Given the description of an element on the screen output the (x, y) to click on. 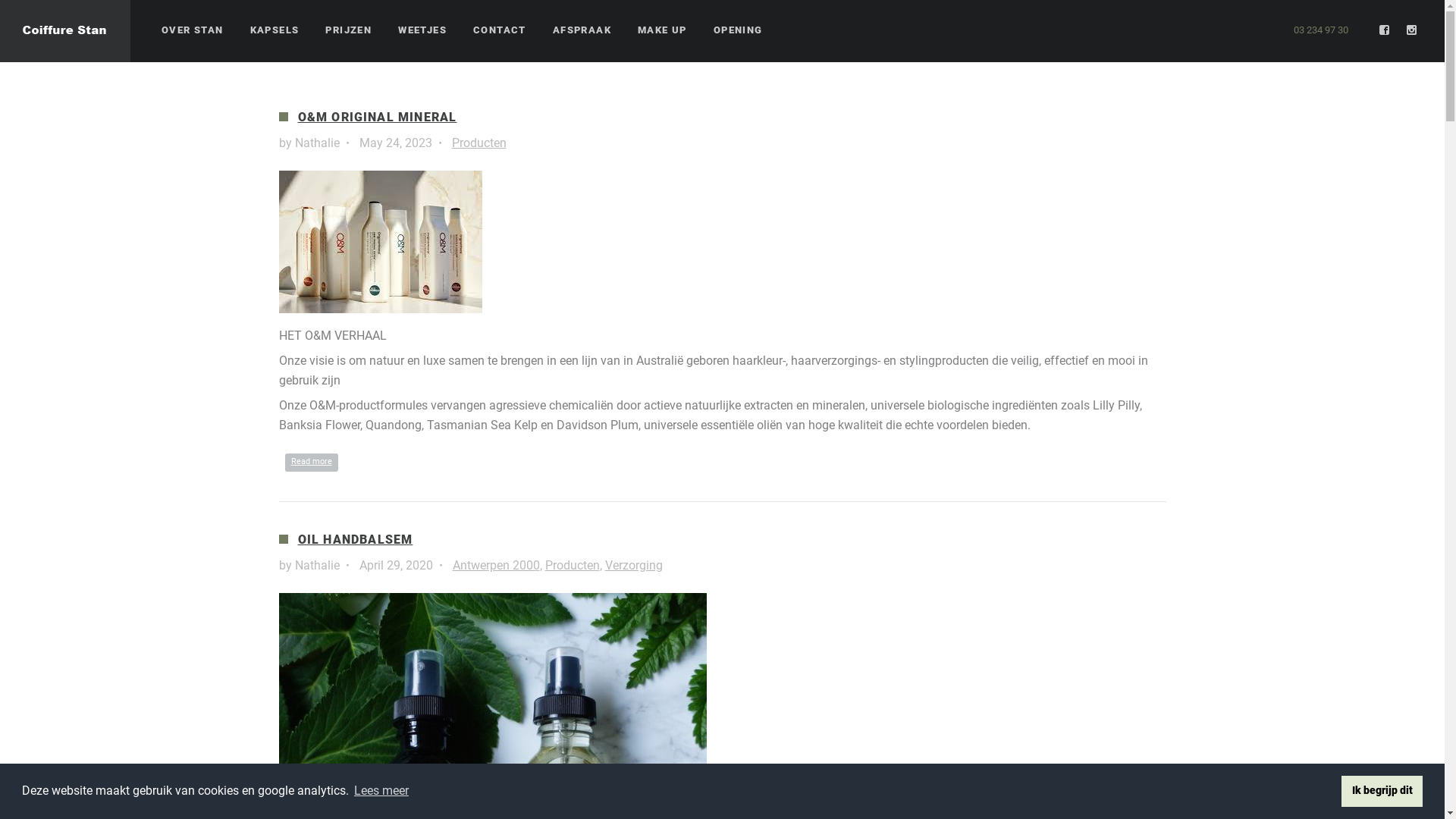
Lees meer Element type: text (381, 790)
Antwerpen 2000 Element type: text (495, 565)
OVER STAN Element type: text (192, 30)
Facebook Element type: hover (1384, 29)
03 234 97 30 Element type: text (1320, 29)
Home Element type: hover (65, 31)
MAKE UP Element type: text (662, 30)
OPENING Element type: text (737, 30)
KAPSELS Element type: text (274, 30)
Read more
about O&M Original Mineral Element type: text (311, 462)
O&M ORIGINAL MINERAL Element type: text (376, 116)
OIL HANDBALSEM Element type: text (354, 539)
Verzorging Element type: text (633, 565)
WEETJES Element type: text (422, 30)
Producten Element type: text (478, 142)
CONTACT Element type: text (499, 30)
Ik begrijp dit Element type: text (1381, 790)
Producten Element type: text (571, 565)
AFSPRAAK Element type: text (581, 30)
PRIJZEN Element type: text (348, 30)
Instagram Element type: hover (1411, 29)
